Given the description of an element on the screen output the (x, y) to click on. 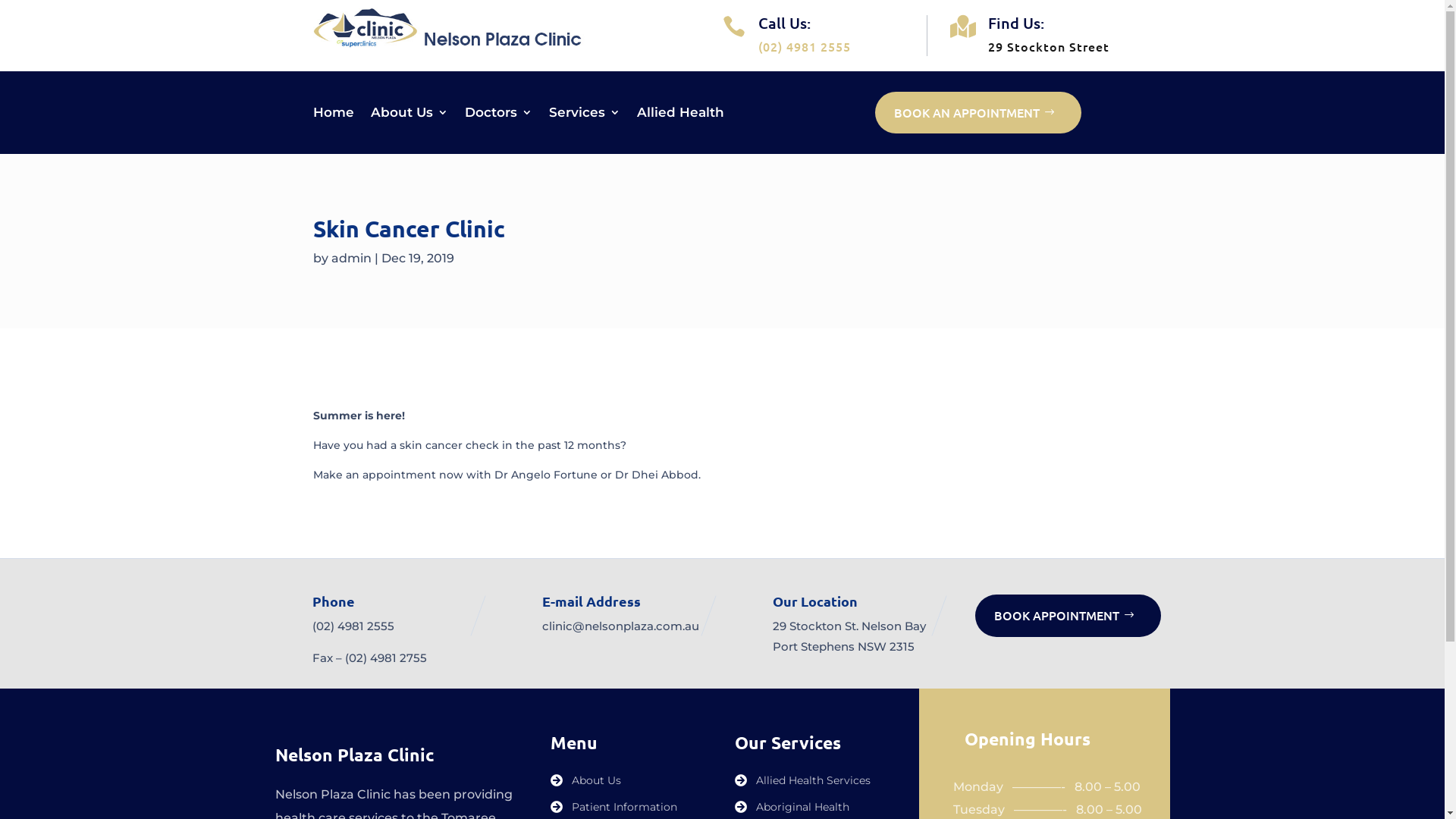
About Us Element type: text (409, 114)
BOOK AN APPOINTMENT Element type: text (978, 112)
Home Element type: text (333, 114)
Doctors Element type: text (498, 114)
Services Element type: text (584, 114)
clinic@nelsonplaza.com.au Element type: text (620, 625)
admin Element type: text (350, 258)
Allied Health Element type: text (680, 114)
BOOK APPOINTMENT Element type: text (1068, 615)
(02) 4981 2555 Element type: text (353, 625)
NelsonPlazaClinic-logo.title Element type: hover (463, 27)
(02) 4981 2555 Element type: text (804, 45)
